Given the description of an element on the screen output the (x, y) to click on. 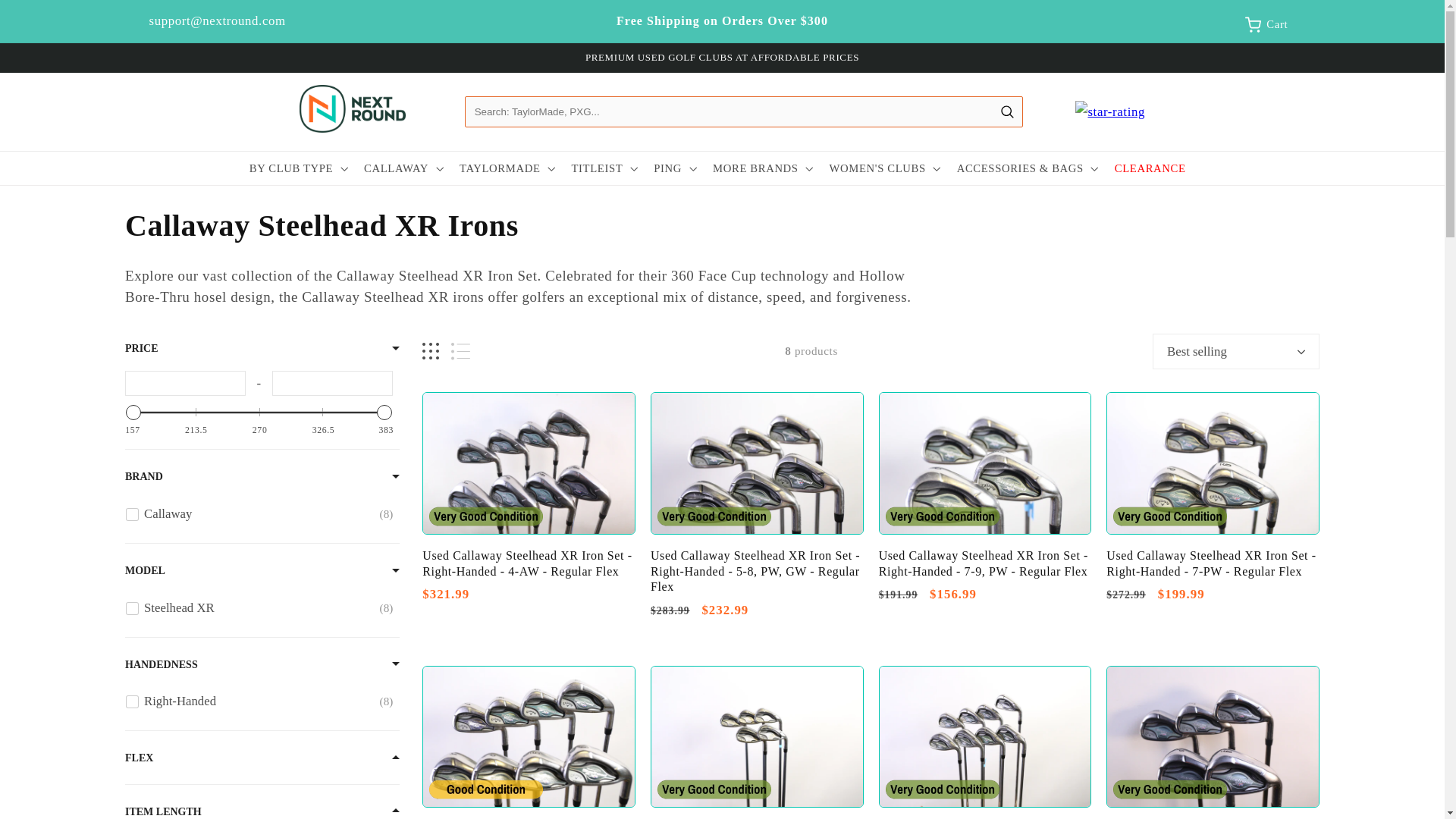
Skip to content (261, 513)
